Given the description of an element on the screen output the (x, y) to click on. 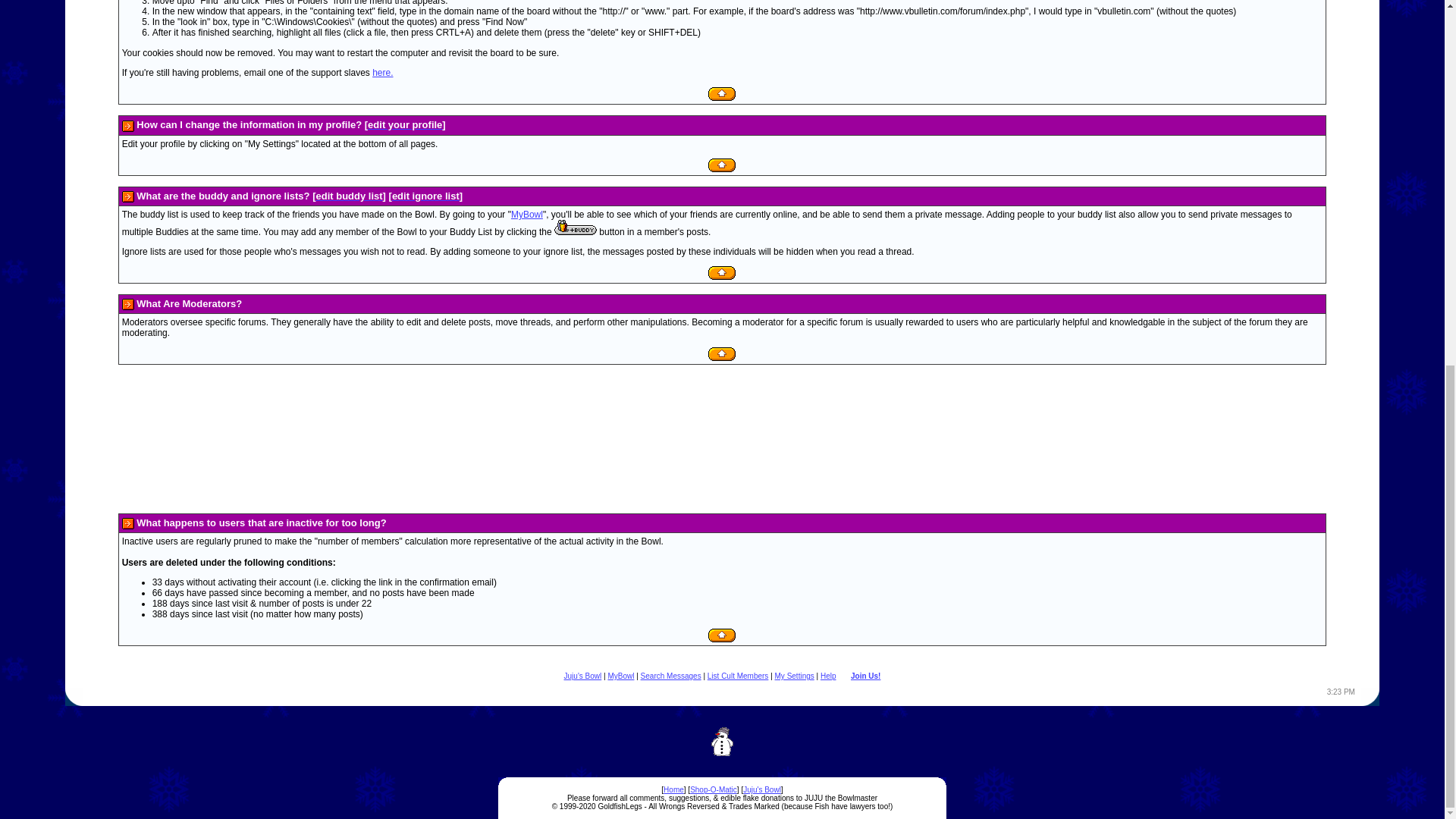
edit ignore list (425, 195)
edit your profile (405, 124)
What Are Moderators? (188, 303)
edit buddy list (348, 195)
here. (382, 72)
MyBowl (527, 214)
